Given the description of an element on the screen output the (x, y) to click on. 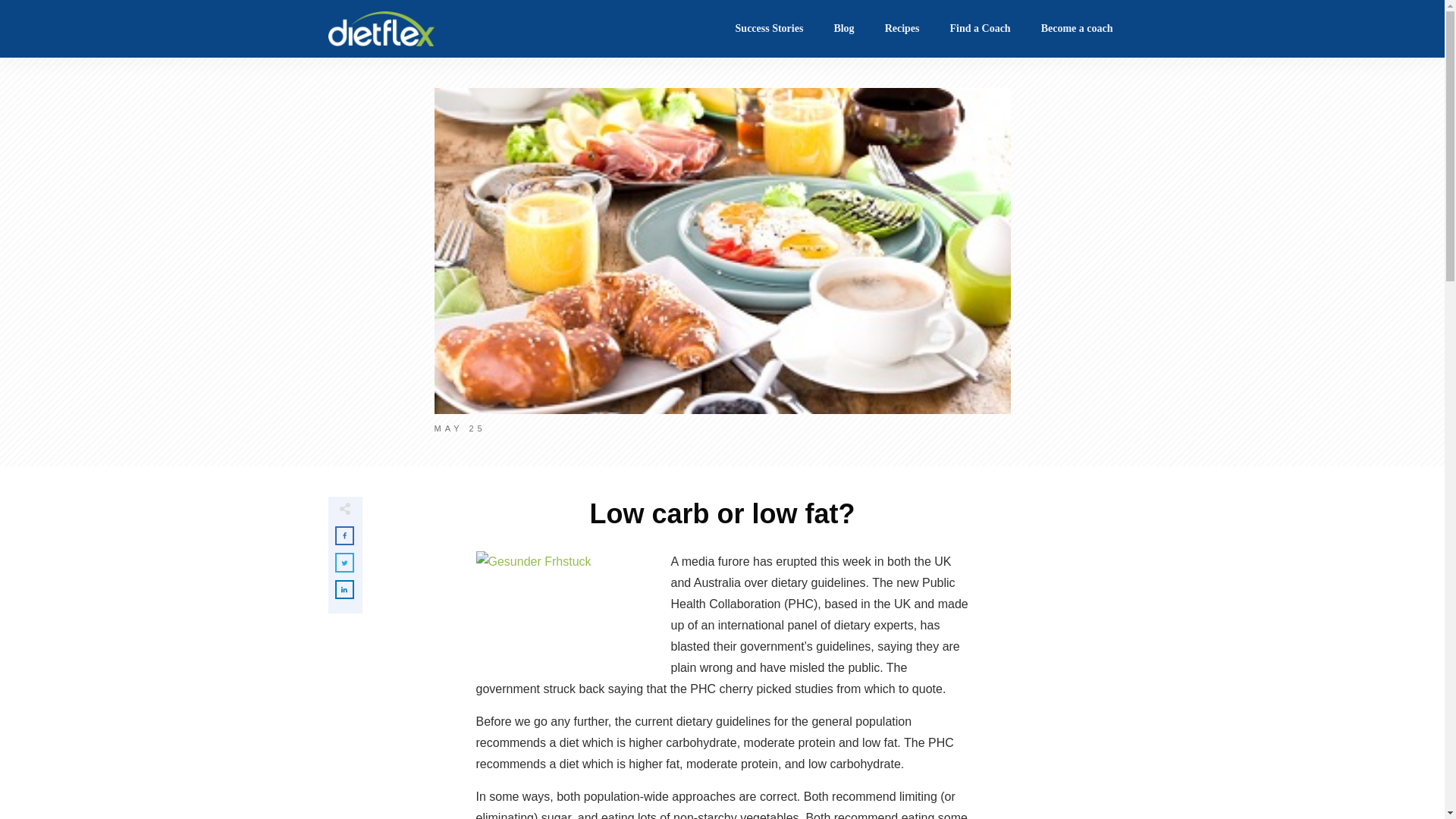
Become a coach Element type: text (1077, 28)
Recipes Element type: text (901, 28)
Find a Coach Element type: text (980, 28)
Blog Element type: text (843, 28)
Success Stories Element type: text (769, 28)
